Given the description of an element on the screen output the (x, y) to click on. 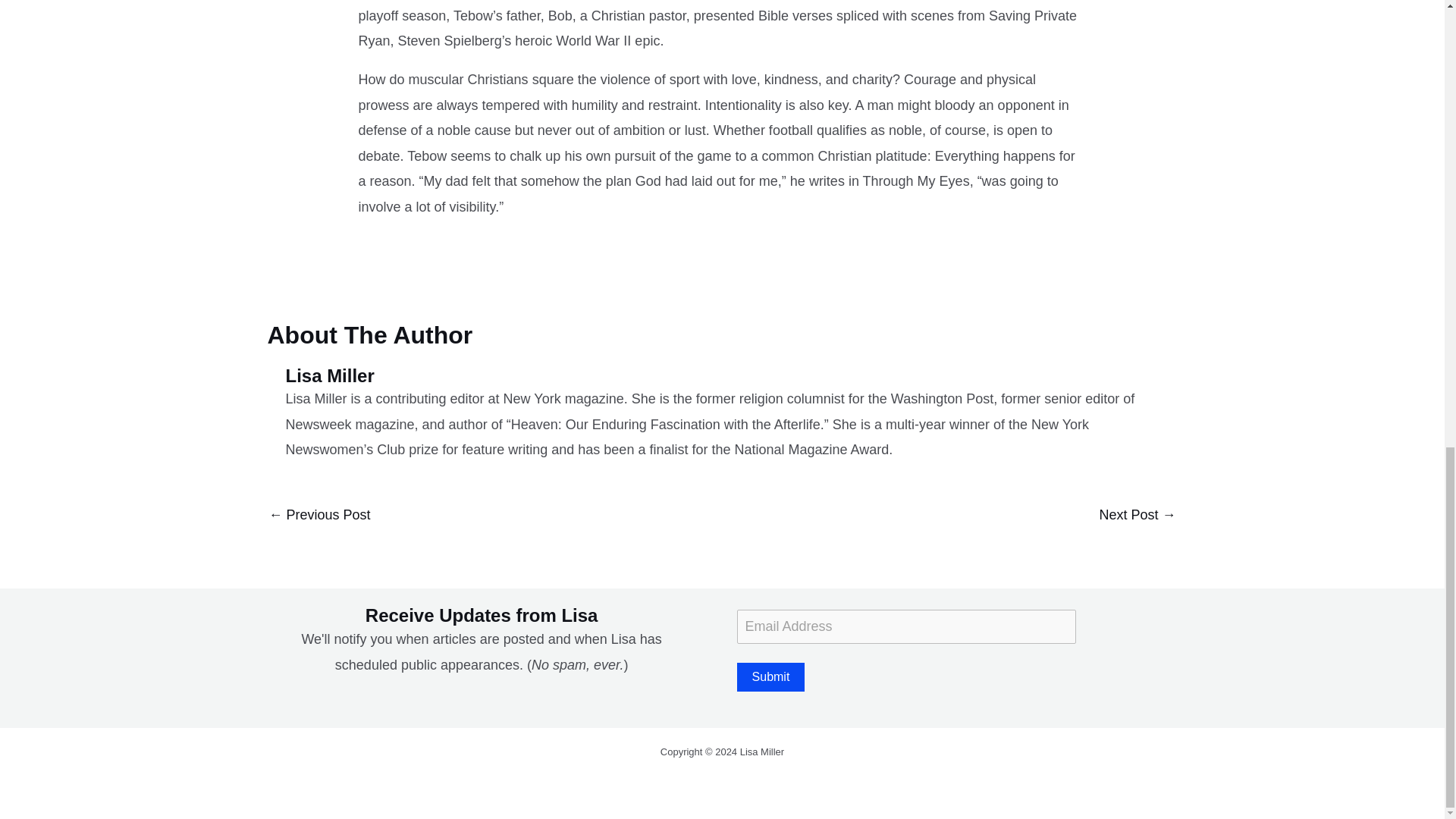
Lisa Miller (730, 376)
Do the Rich Get More Recession Divorces? (318, 516)
Submit (770, 676)
Homeschooling, City-Style (1136, 516)
